Given the description of an element on the screen output the (x, y) to click on. 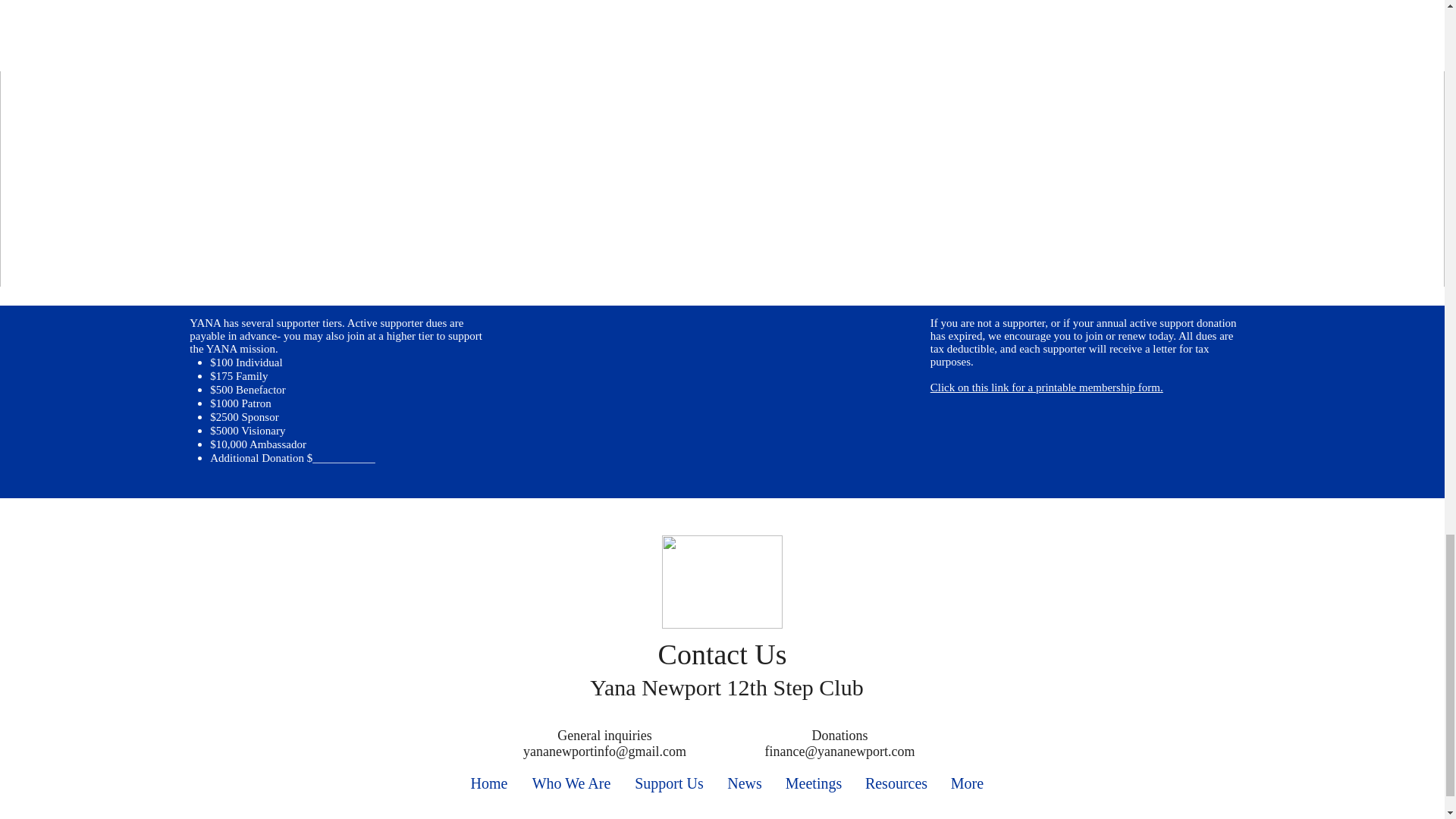
Yana logo.png (721, 581)
Who We Are (571, 783)
News (745, 783)
Support Us (669, 783)
Click on this link for a printable membership form. (1046, 387)
Home (488, 783)
Meetings (813, 783)
